Given the description of an element on the screen output the (x, y) to click on. 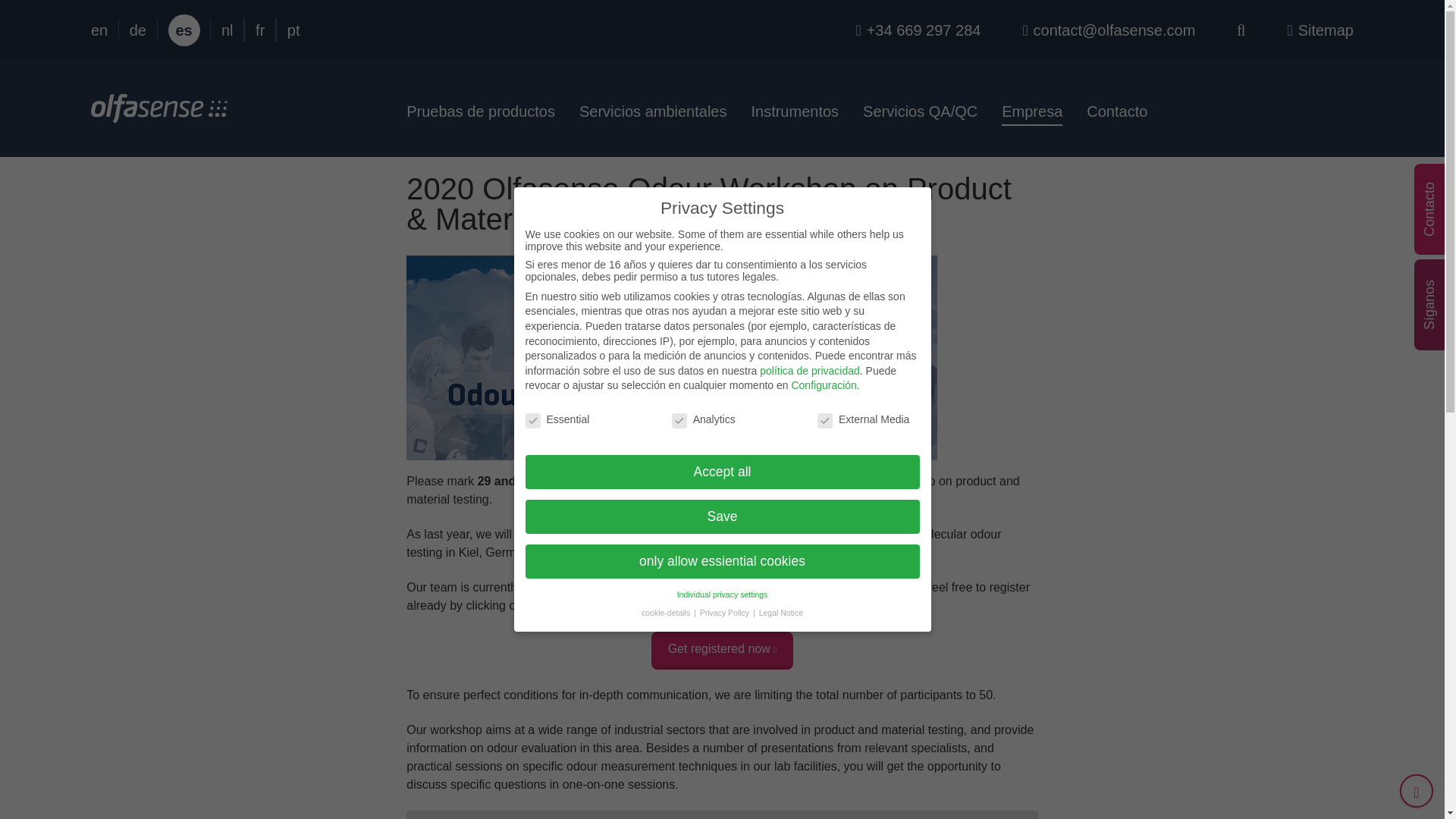
Sitemap (1320, 29)
pt (292, 29)
Pruebas de productos (486, 111)
Olfasense - From Odour Data to Odour Knowledge (158, 114)
Nederlands (226, 29)
nl (226, 29)
fr (260, 29)
en (98, 29)
Instrumentos (794, 111)
Deutsch (138, 29)
Servicios ambientales (653, 111)
de (138, 29)
English (98, 29)
